Given the description of an element on the screen output the (x, y) to click on. 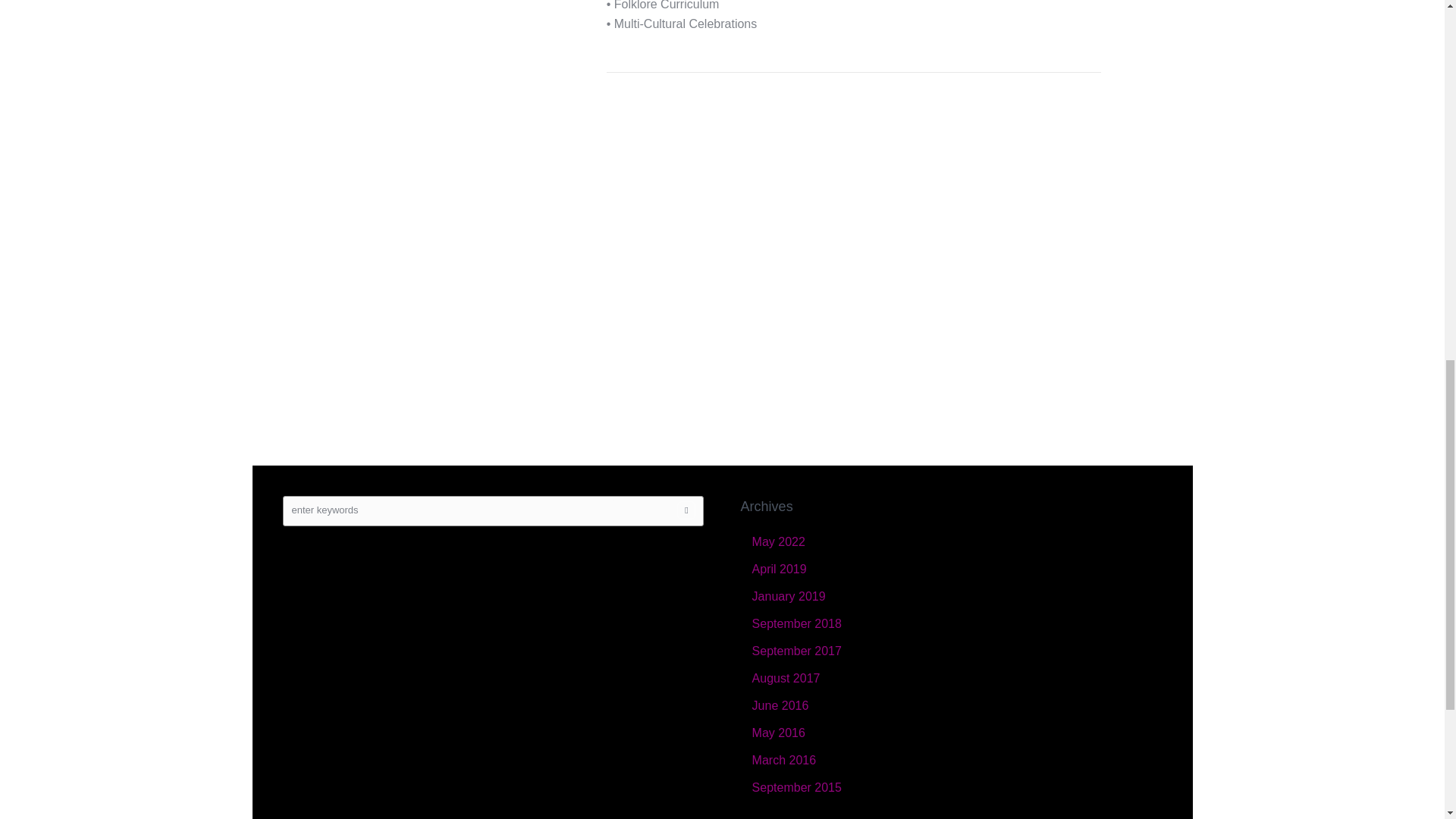
August 2017 (786, 677)
May 2016 (778, 732)
January 2019 (788, 595)
June 2016 (780, 705)
May 2022 (778, 541)
September 2017 (796, 650)
March 2016 (784, 759)
September 2015 (796, 787)
April 2019 (779, 568)
September 2018 (796, 623)
